Given the description of an element on the screen output the (x, y) to click on. 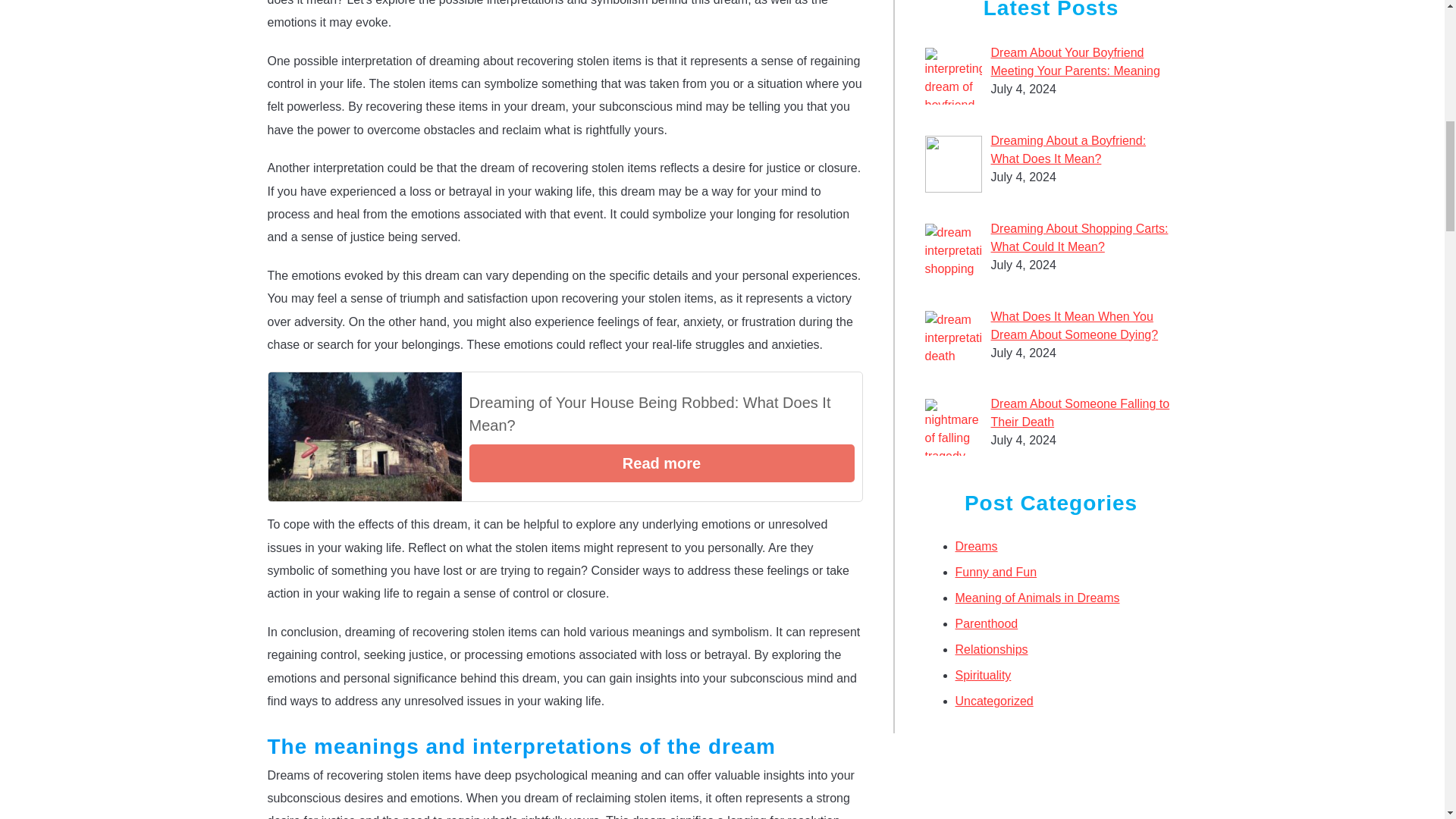
What Does It Mean When You Dream About Someone Dying? (1074, 325)
Dreaming About Shopping Carts: What Could It Mean? (1080, 237)
Dreams (976, 545)
Funny and Fun (995, 571)
Dream About Your Boyfriend Meeting Your Parents: Meaning (1075, 60)
Dream About Someone Falling to Their Death (1080, 412)
Dreaming About a Boyfriend: What Does It Mean? (1069, 149)
